Given the description of an element on the screen output the (x, y) to click on. 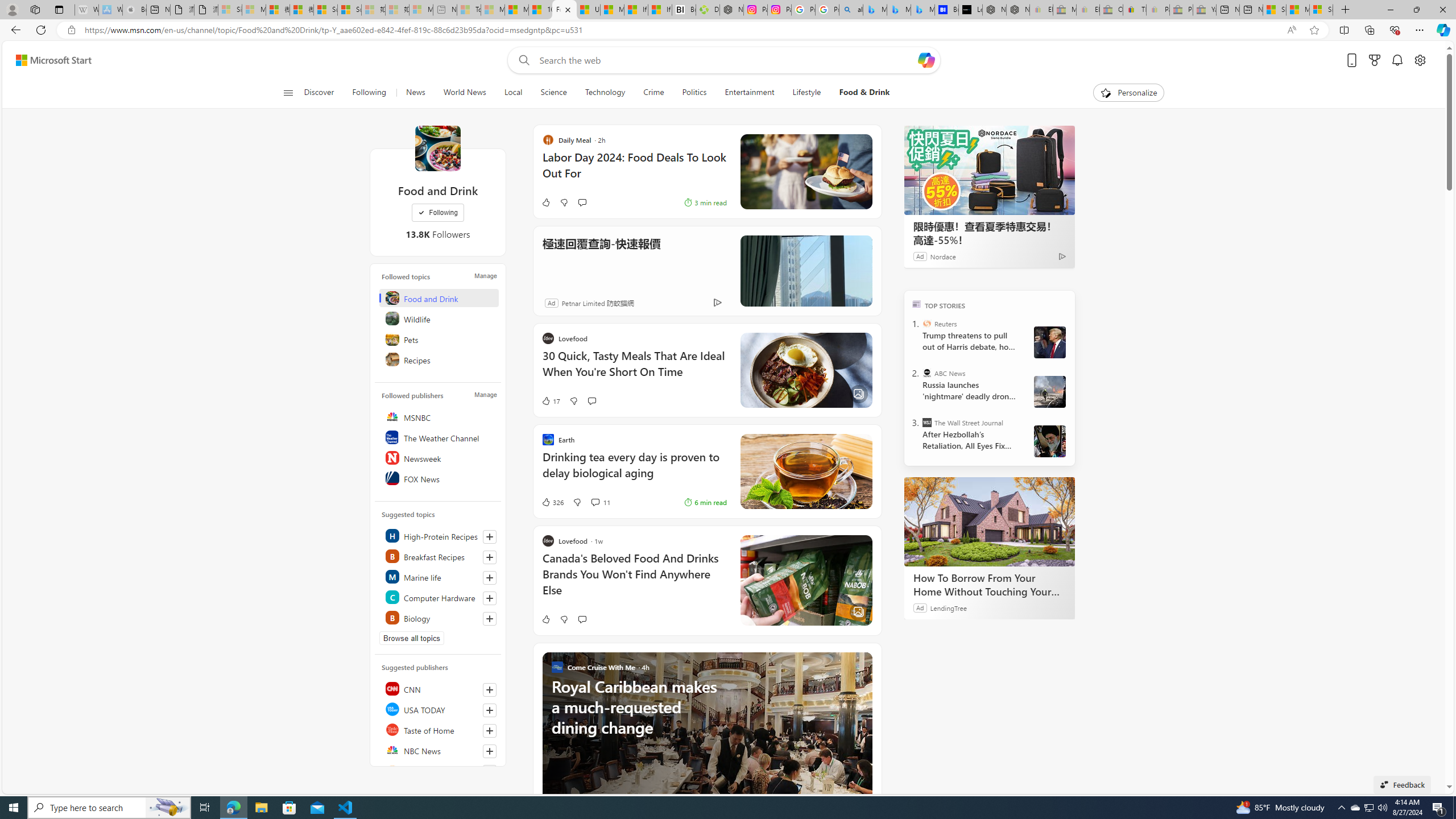
New tab - Sleeping (444, 9)
Food and Drink (439, 298)
Food and Drink (437, 148)
Web search (520, 60)
NBC News (439, 750)
Sign in to your Microsoft account - Sleeping (229, 9)
How To Borrow From Your Home Without Touching Your Mortgage (989, 521)
Skip to footer (46, 59)
Food and Drink - MSN (563, 9)
Follow this topic (489, 618)
